Given the description of an element on the screen output the (x, y) to click on. 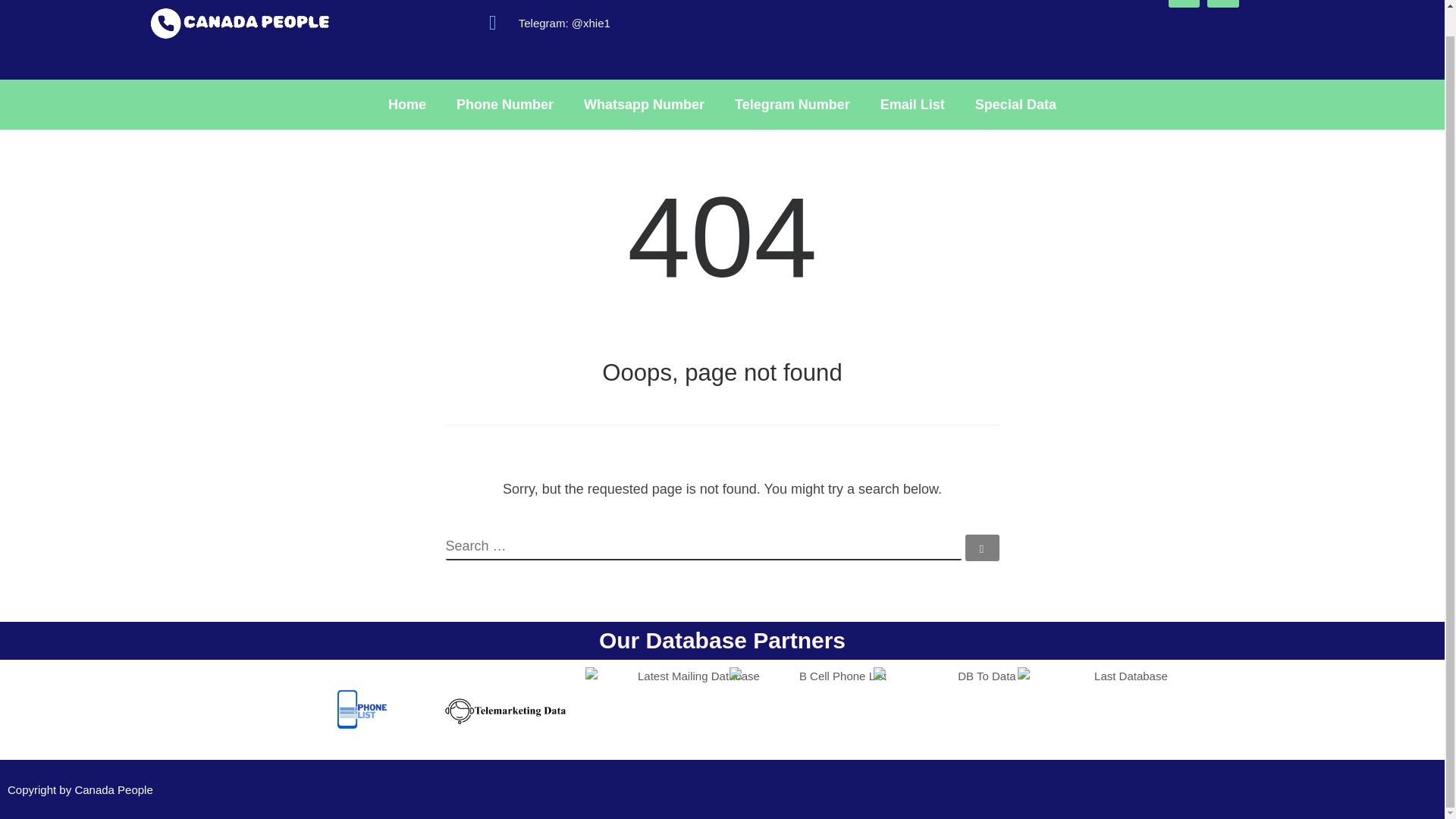
Home (406, 104)
Whatsapp Number (644, 104)
Special Data (1015, 104)
Email List (911, 104)
Telegram Number (791, 104)
Phone Number (505, 104)
CN (1223, 3)
EN (1184, 3)
Canada People (113, 789)
